Given the description of an element on the screen output the (x, y) to click on. 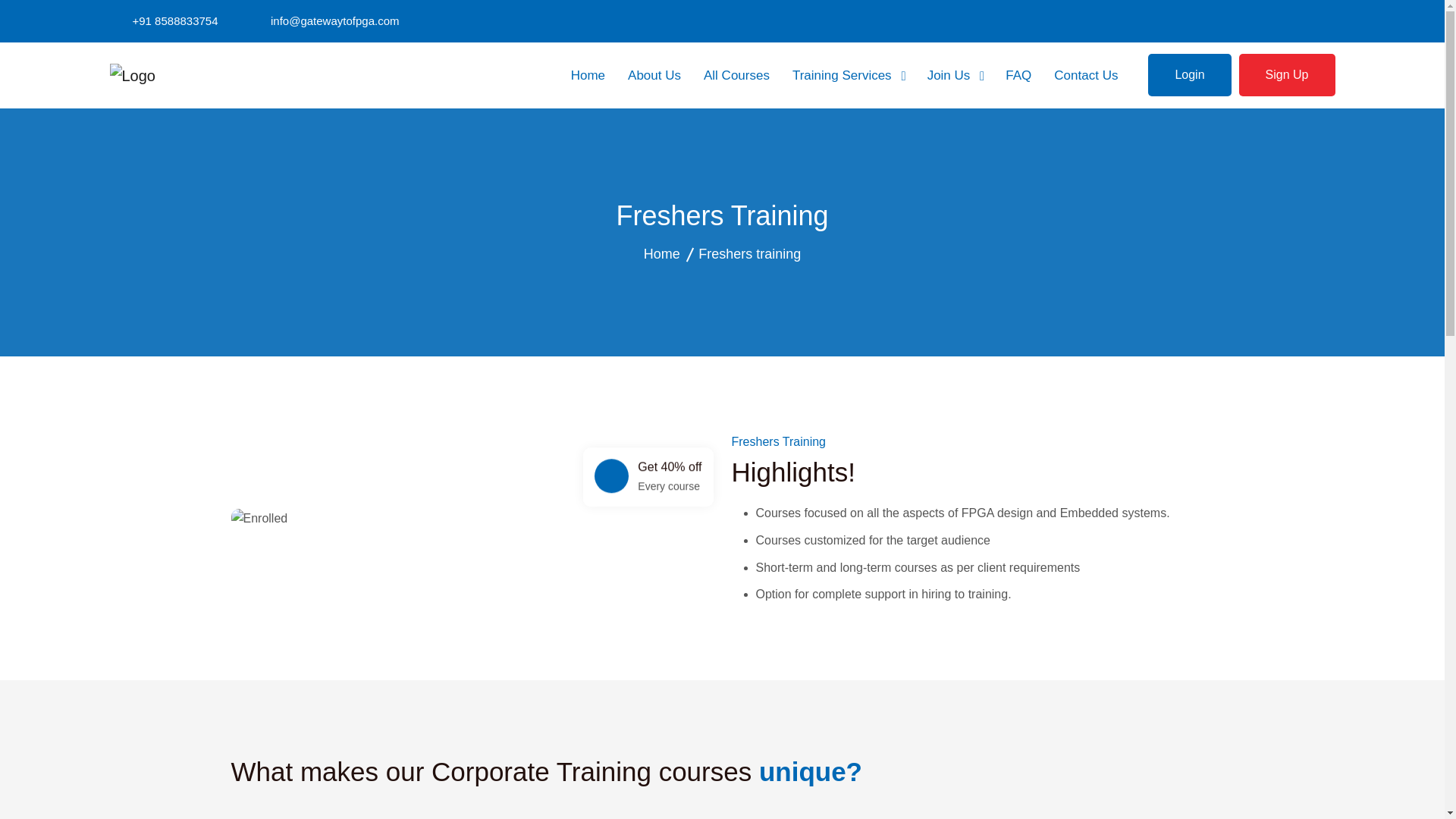
Login (1189, 75)
About Us (654, 75)
Sign Up (1287, 75)
All Courses (736, 75)
Home (661, 254)
Join Us (955, 75)
Training Services (848, 75)
Home (587, 75)
FAQ (1018, 75)
Contact Us (1086, 75)
